Given the description of an element on the screen output the (x, y) to click on. 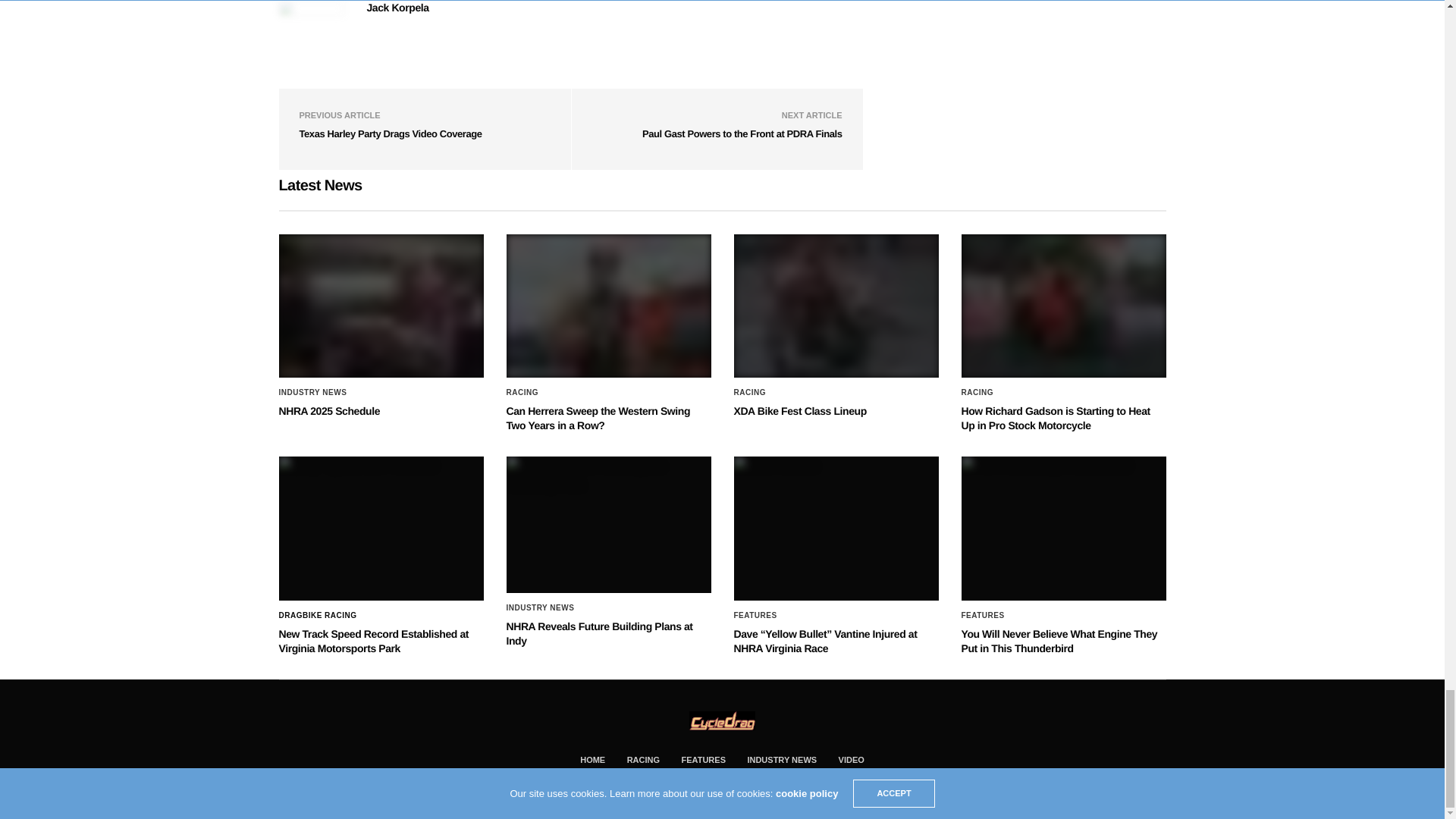
Paul Gast Powers to the Front at PDRA Finals (741, 133)
Texas Harley Party Drags Video Coverage (389, 133)
